Given the description of an element on the screen output the (x, y) to click on. 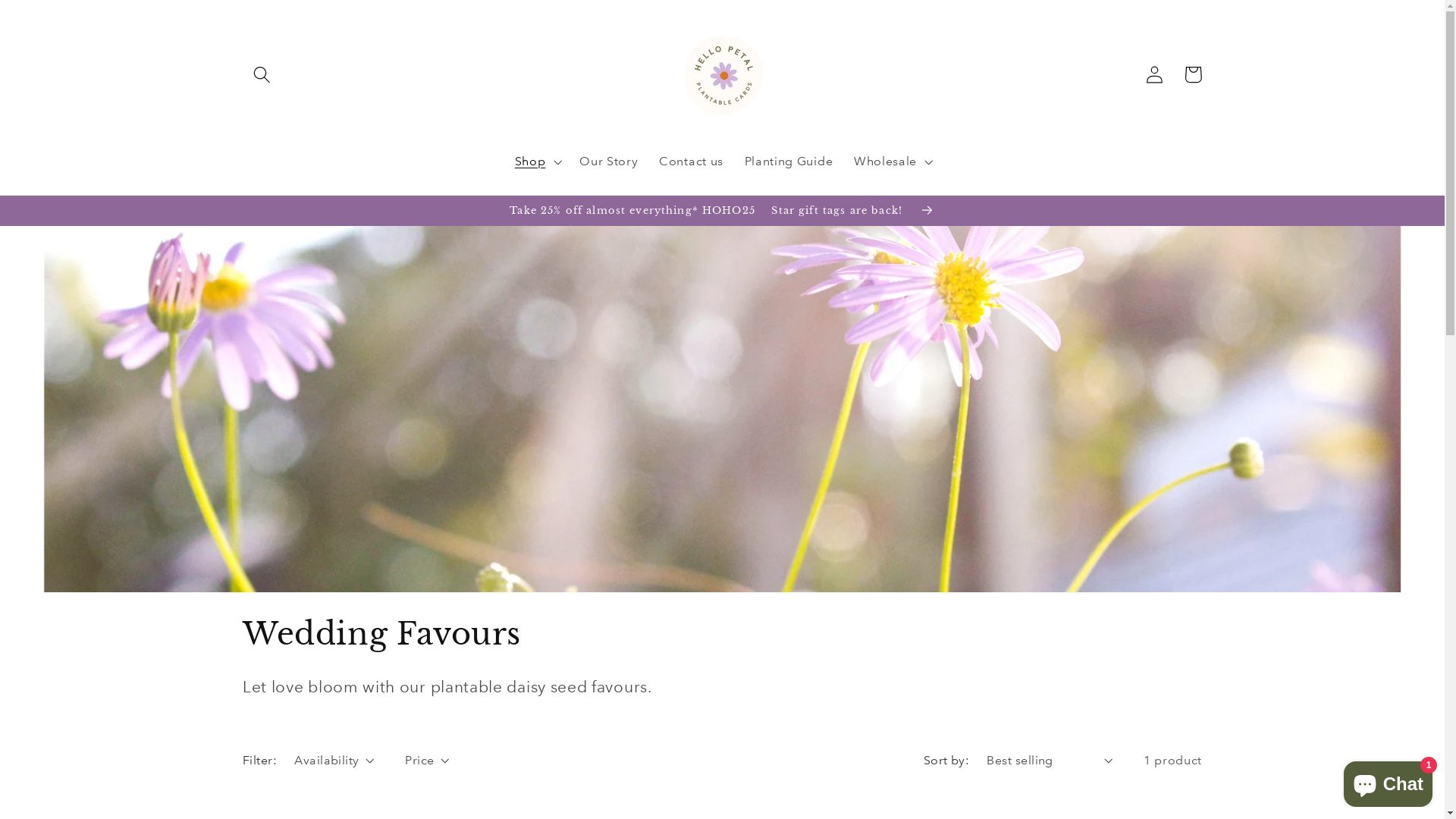
Planting Guide Element type: text (788, 161)
Cart Element type: text (1192, 74)
Log in Element type: text (1154, 74)
Shopify online store chat Element type: hover (1388, 780)
Contact us Element type: text (691, 161)
Our Story Element type: text (608, 161)
